Given the description of an element on the screen output the (x, y) to click on. 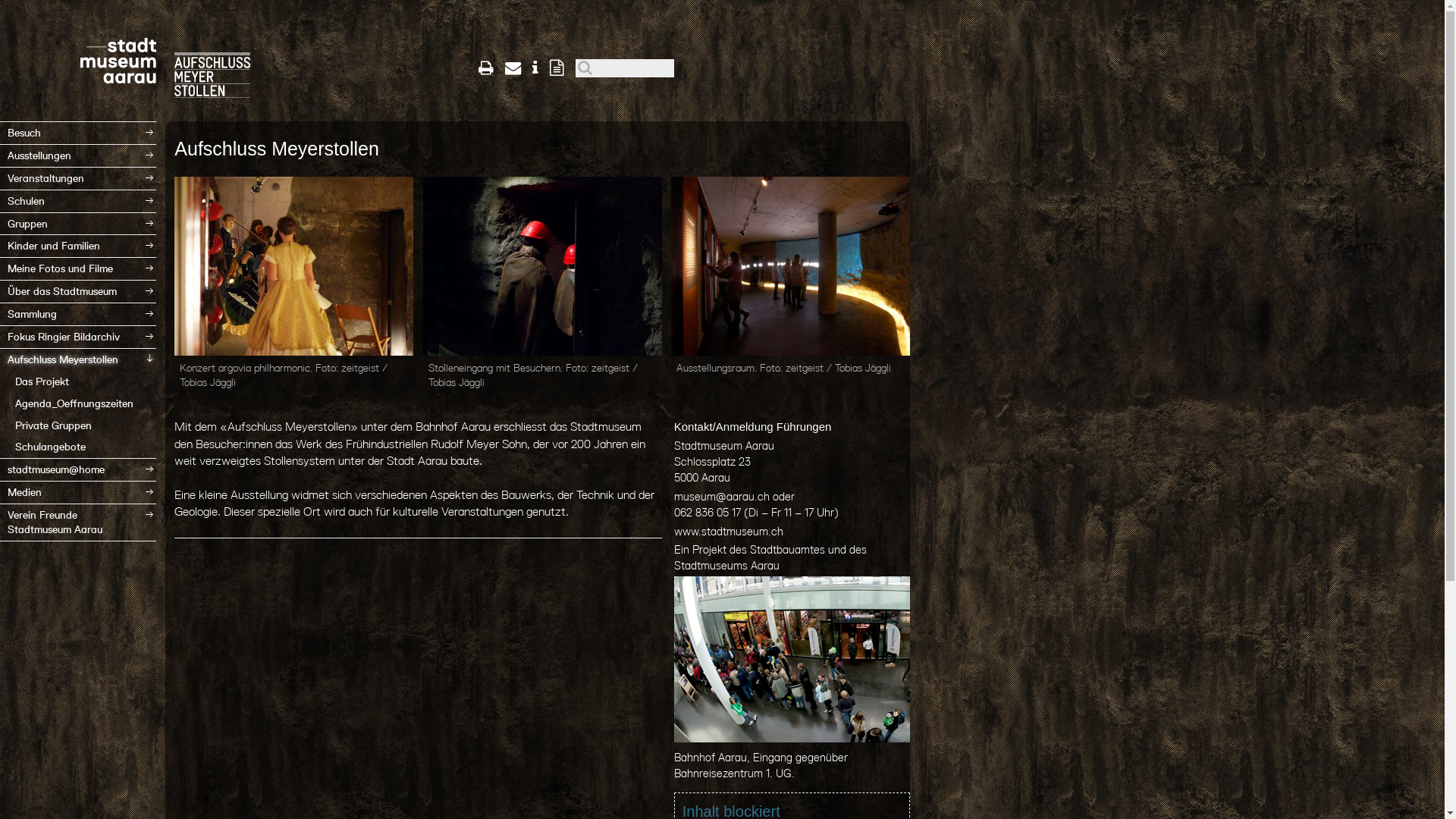
Schulen Element type: text (78, 201)
Private Gruppen Element type: text (78, 425)
gehe zur Kontaktseite des Stadtmuseums Aarau Element type: hover (512, 68)
Meine Fotos und Filme Element type: text (78, 268)
Medien Element type: text (78, 492)
Ausstellungen Element type: text (78, 155)
Agenda_Oeffnungszeiten Element type: text (78, 403)
zur Startseite Element type: hover (212, 54)
Gruppen Element type: text (78, 224)
Das Projekt Element type: text (78, 381)
Fokus Ringier Bildarchiv Element type: text (78, 337)
Besuch Element type: text (78, 133)
Newsletter abonnieren Element type: hover (556, 68)
Kinder und Familien Element type: text (78, 246)
Sammlung Element type: text (78, 314)
Seite in druckbarer Form anzeigen Element type: hover (485, 68)
stadtmuseum@home Element type: text (78, 469)
Aufschluss Meyerstollen Element type: text (78, 359)
zu den Informationen Element type: hover (535, 68)
Schulangebote Element type: text (78, 447)
Verein Freunde Stadtmuseum Aarau Element type: text (78, 522)
Veranstaltungen Element type: text (78, 178)
